Given the description of an element on the screen output the (x, y) to click on. 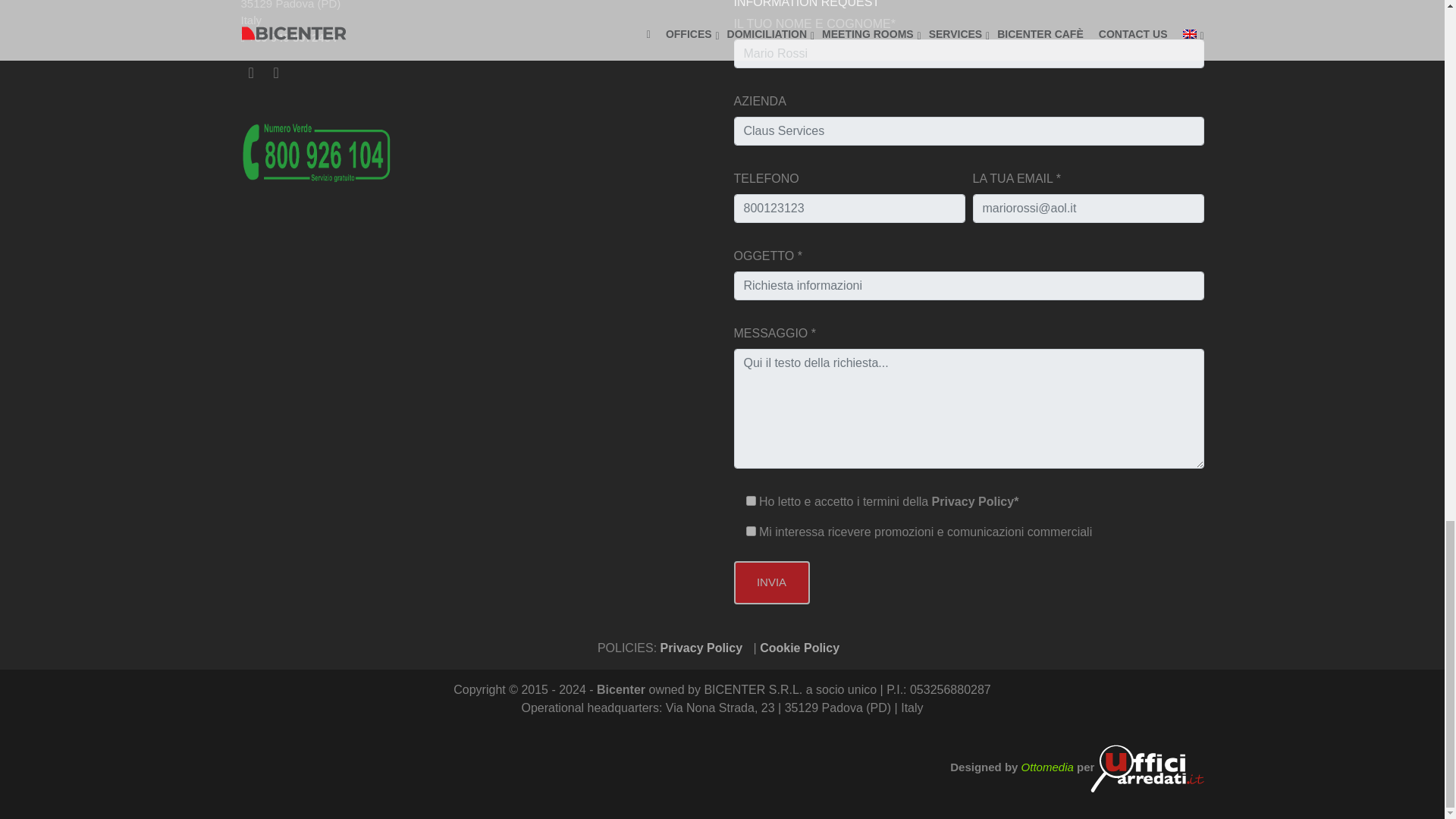
Invia (771, 582)
1 (750, 531)
1 (750, 501)
